Given the description of an element on the screen output the (x, y) to click on. 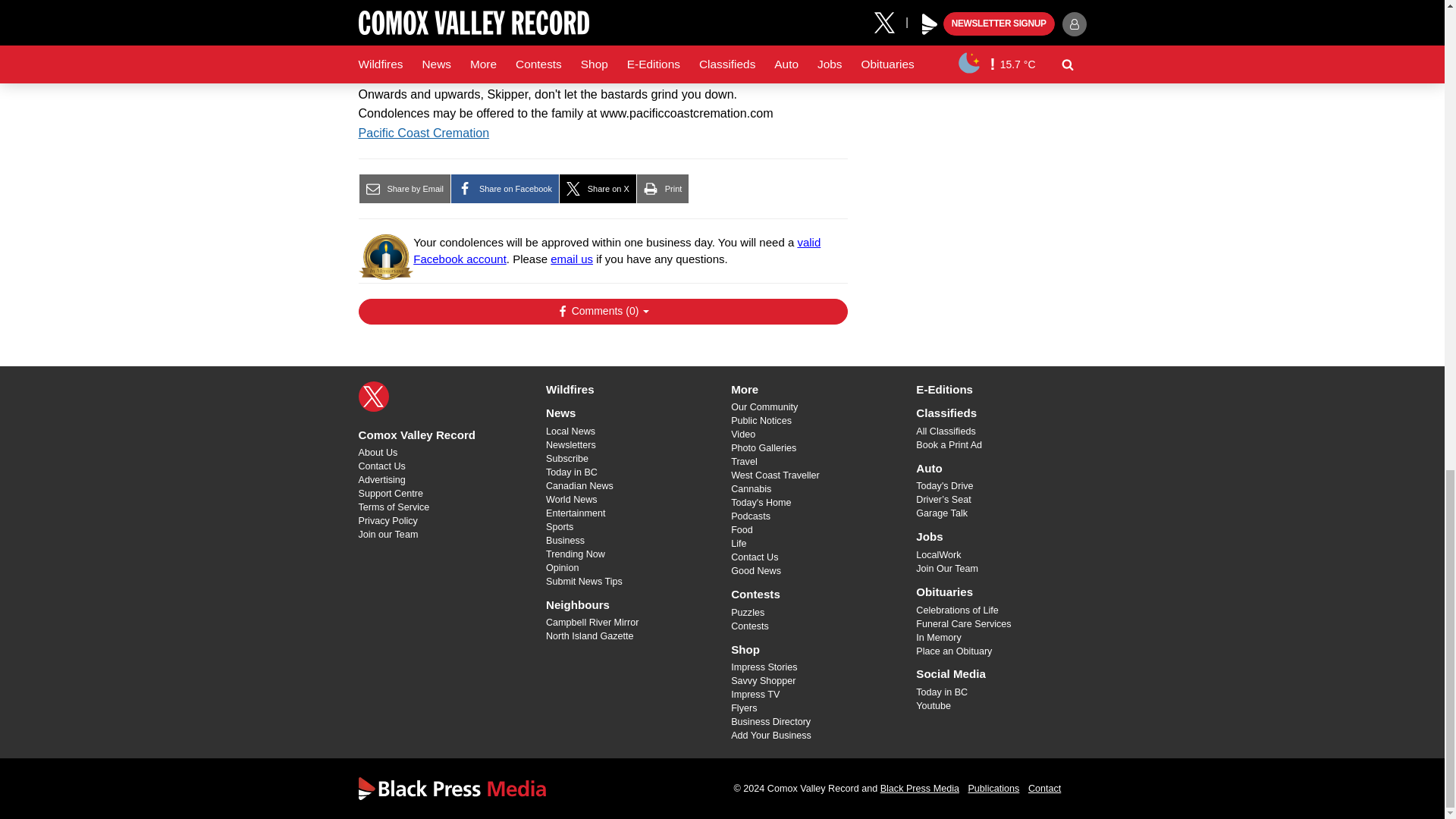
Show Comments (602, 311)
X (373, 396)
